Given the description of an element on the screen output the (x, y) to click on. 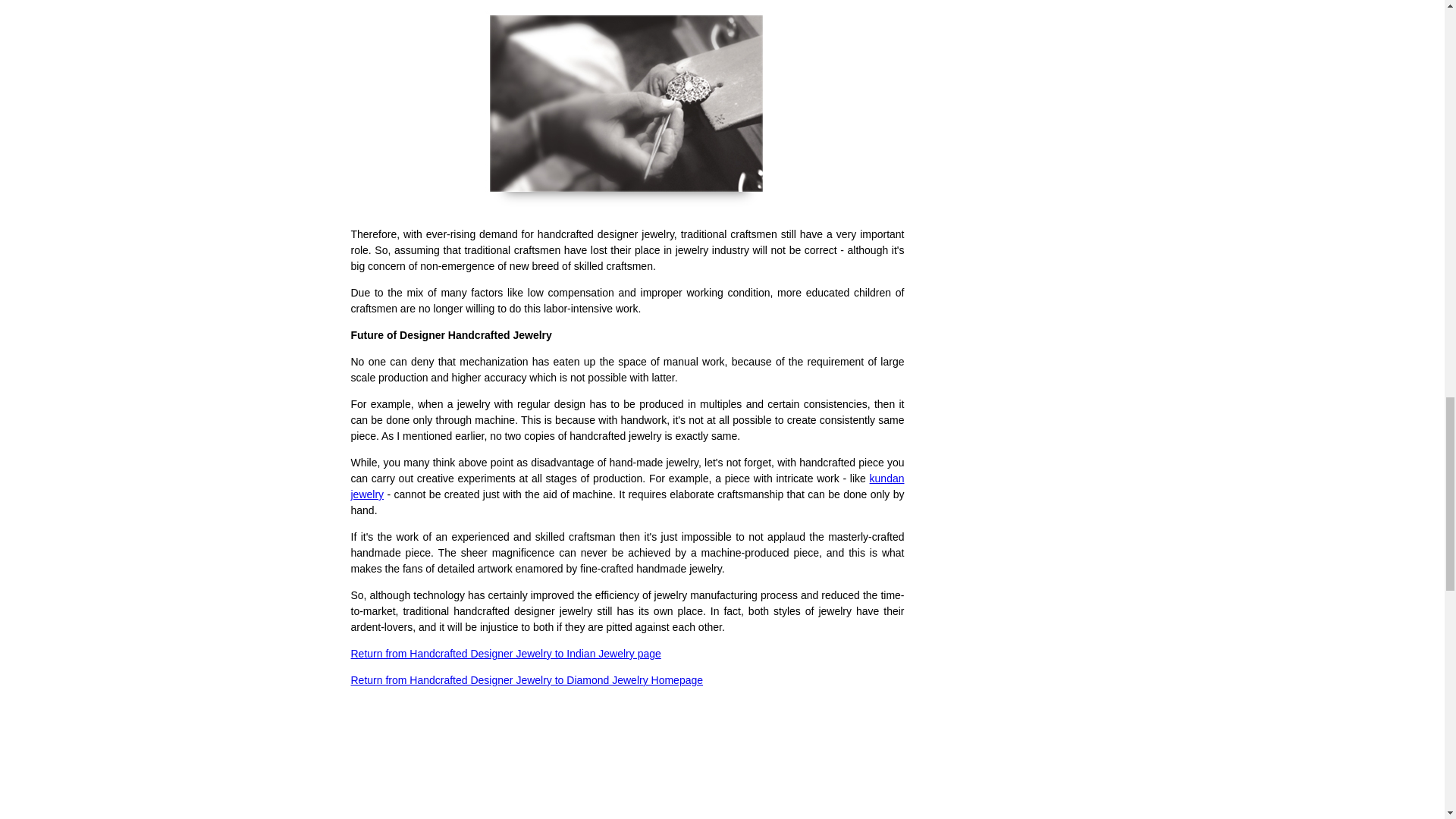
Craftsman making jewelry (627, 110)
